Given the description of an element on the screen output the (x, y) to click on. 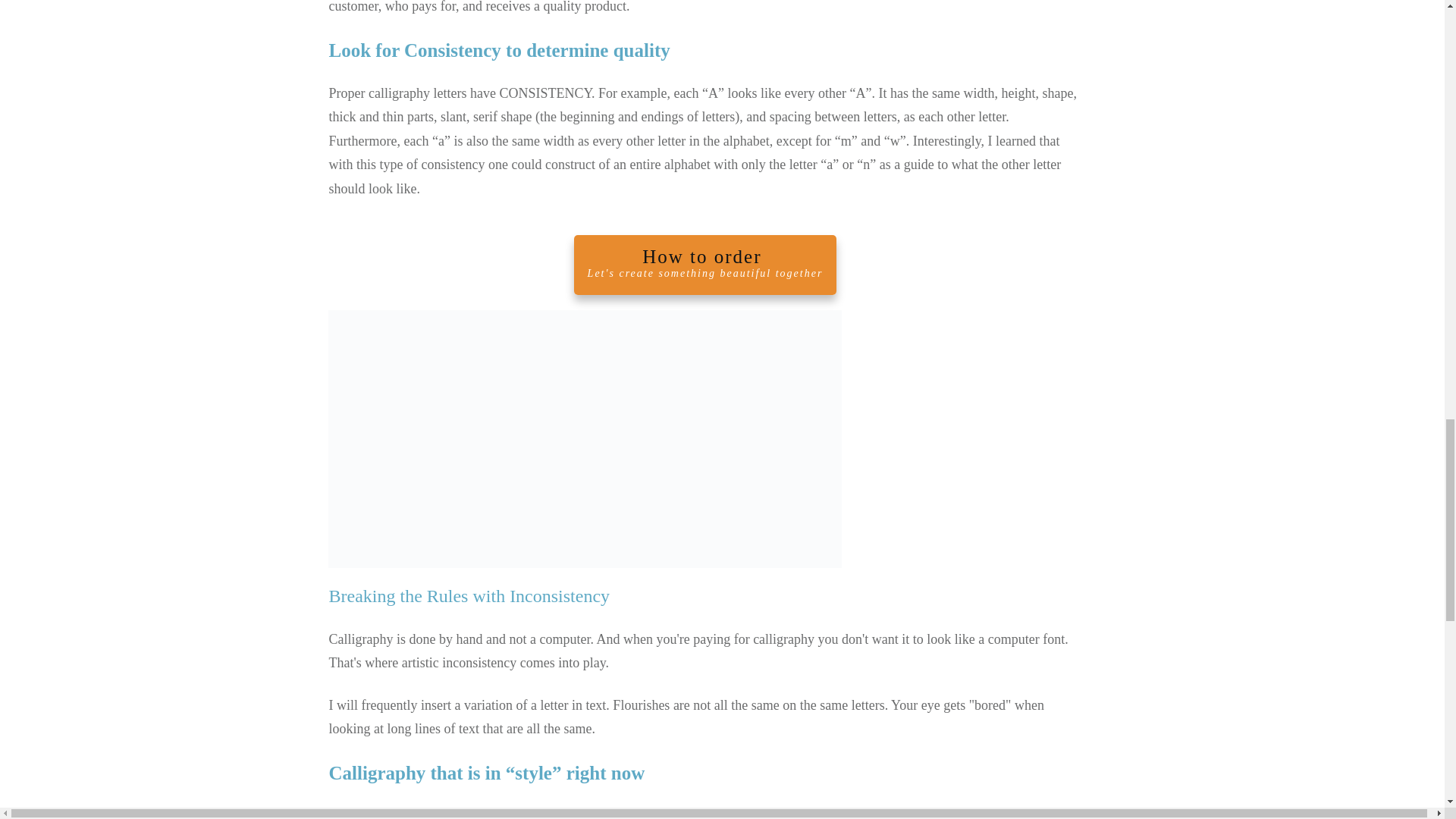
R-variation (705, 264)
modern calligraphy (584, 439)
